Given the description of an element on the screen output the (x, y) to click on. 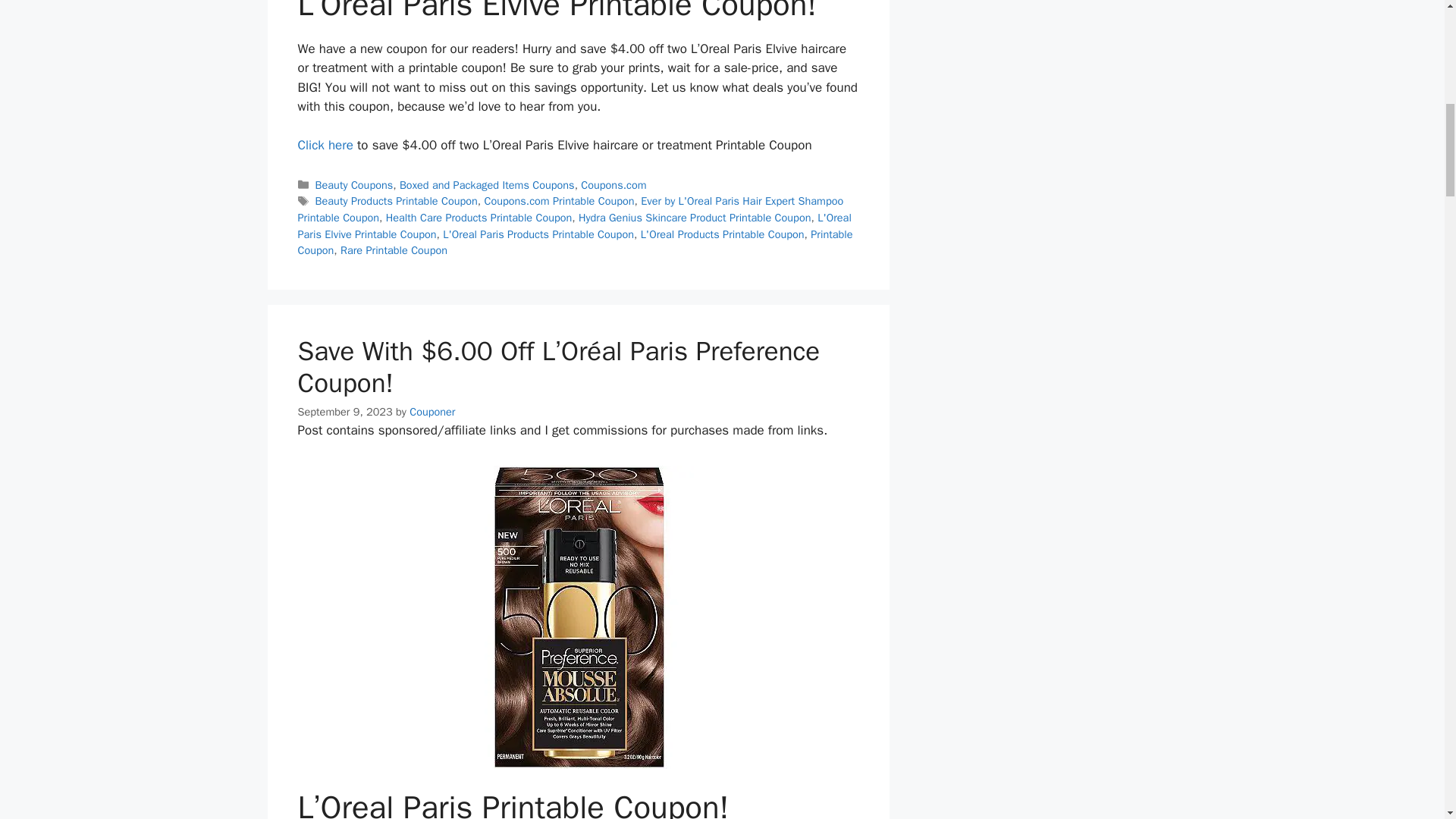
View all posts by Couponer (431, 411)
